Given the description of an element on the screen output the (x, y) to click on. 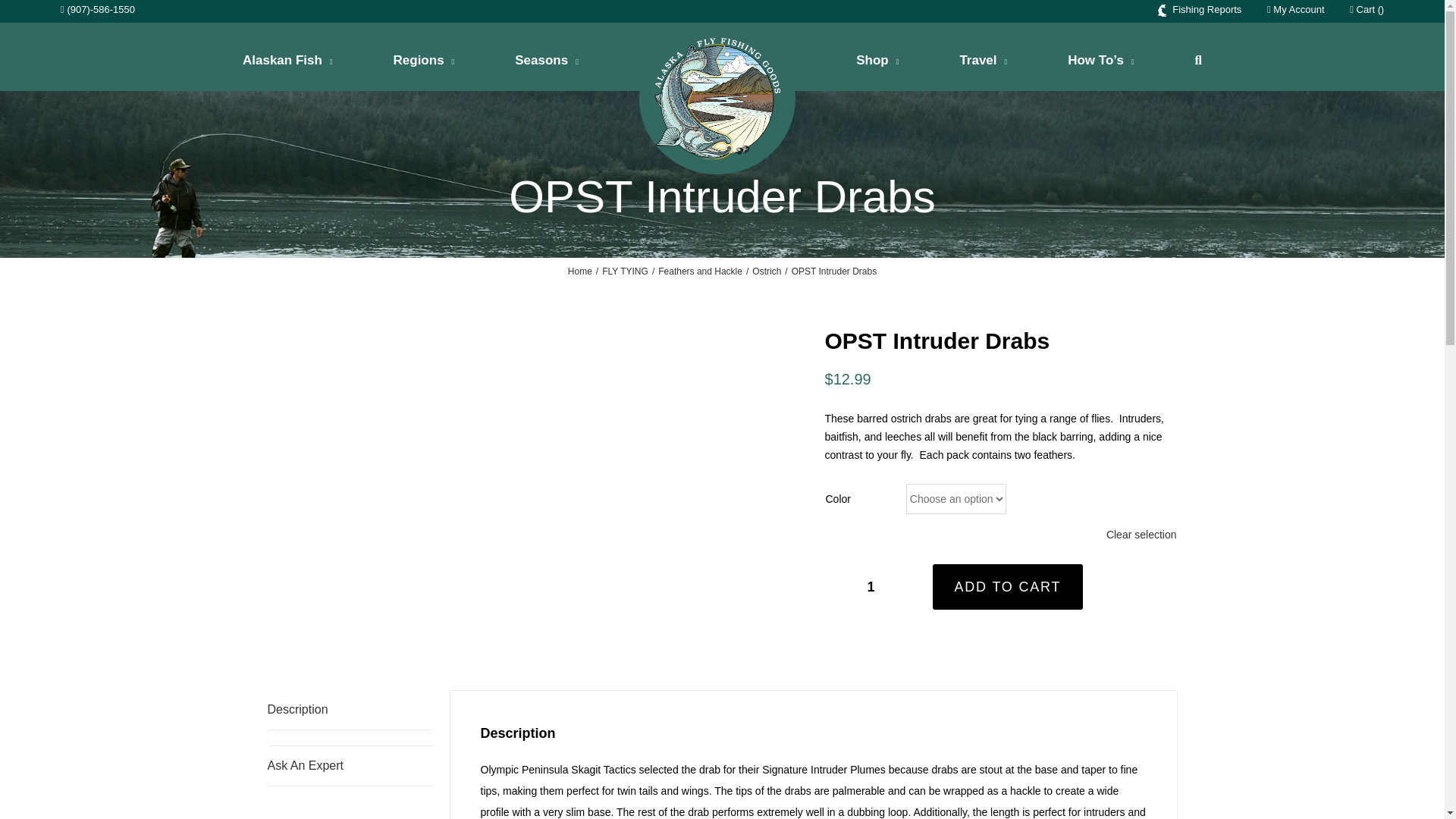
Fishing Reports (1199, 9)
Log In (1370, 150)
My Account (1295, 9)
Alaskan Fish (288, 60)
1 (870, 586)
Seasons (546, 60)
Regions (423, 60)
